Given the description of an element on the screen output the (x, y) to click on. 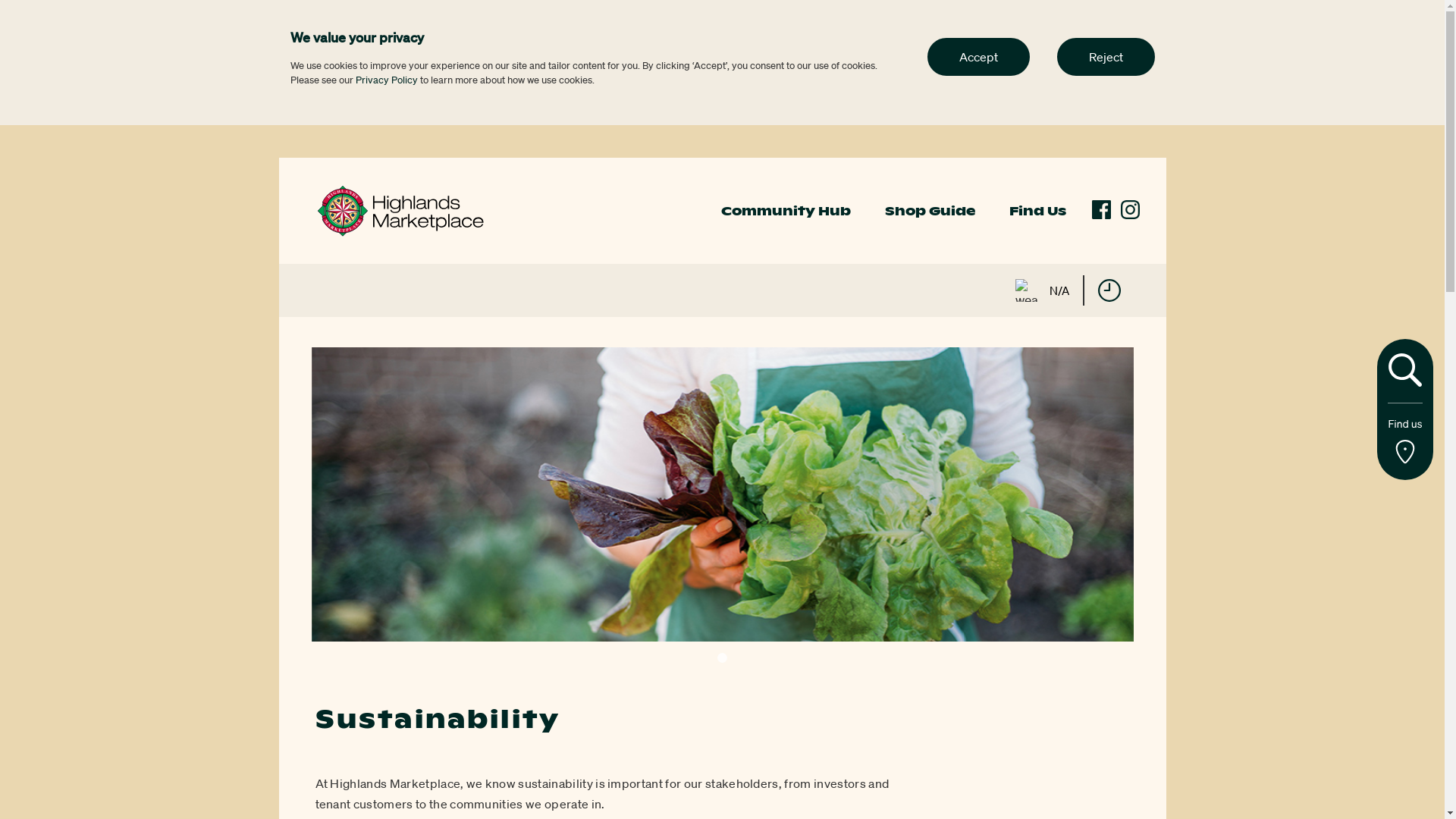
instagram Element type: hover (1129, 209)
Community Hub Element type: text (785, 211)
Shop Guide Element type: text (929, 211)
Accept Element type: text (977, 56)
facebook Element type: hover (1101, 209)
1 Element type: text (722, 657)
Reject Element type: text (1105, 56)
Privacy Policy Element type: text (385, 79)
Find Us Element type: text (1036, 211)
time Element type: hover (1109, 290)
